Given the description of an element on the screen output the (x, y) to click on. 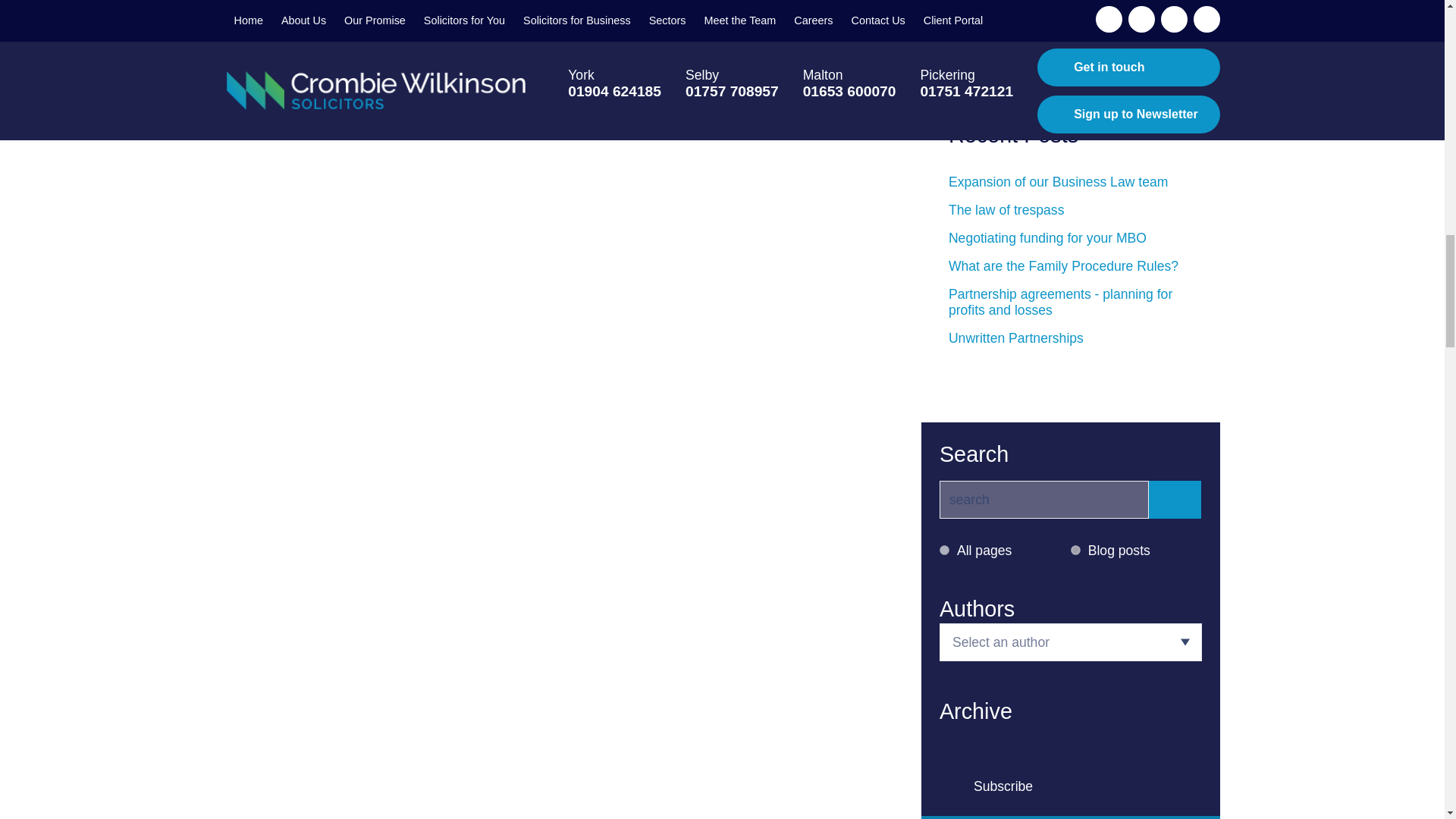
search (1043, 499)
all pages (944, 550)
blogs (1075, 550)
search (1043, 499)
all pages (944, 550)
blogs (1075, 550)
